Given the description of an element on the screen output the (x, y) to click on. 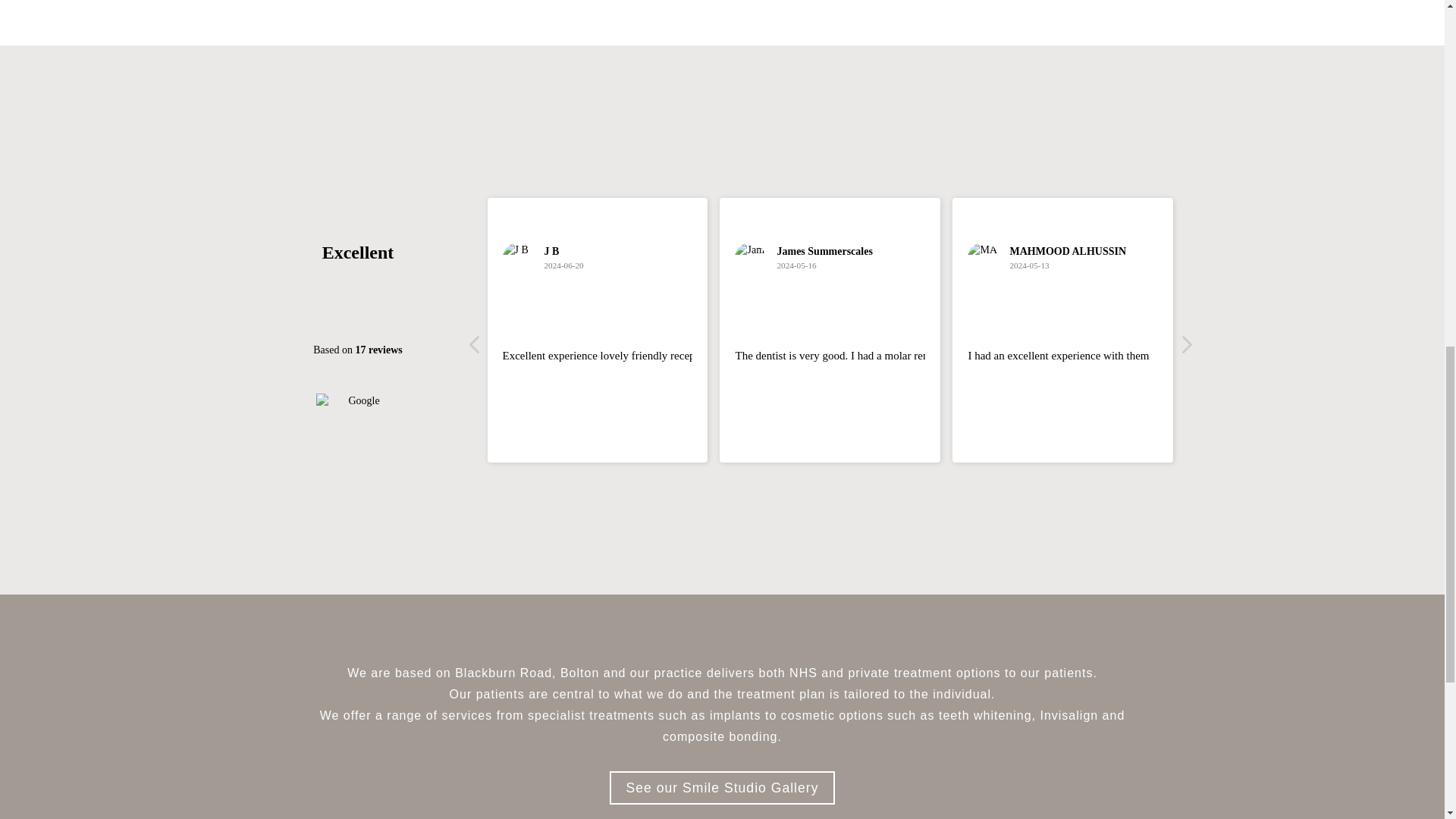
See our Smile Studio Gallery (722, 787)
